Given the description of an element on the screen output the (x, y) to click on. 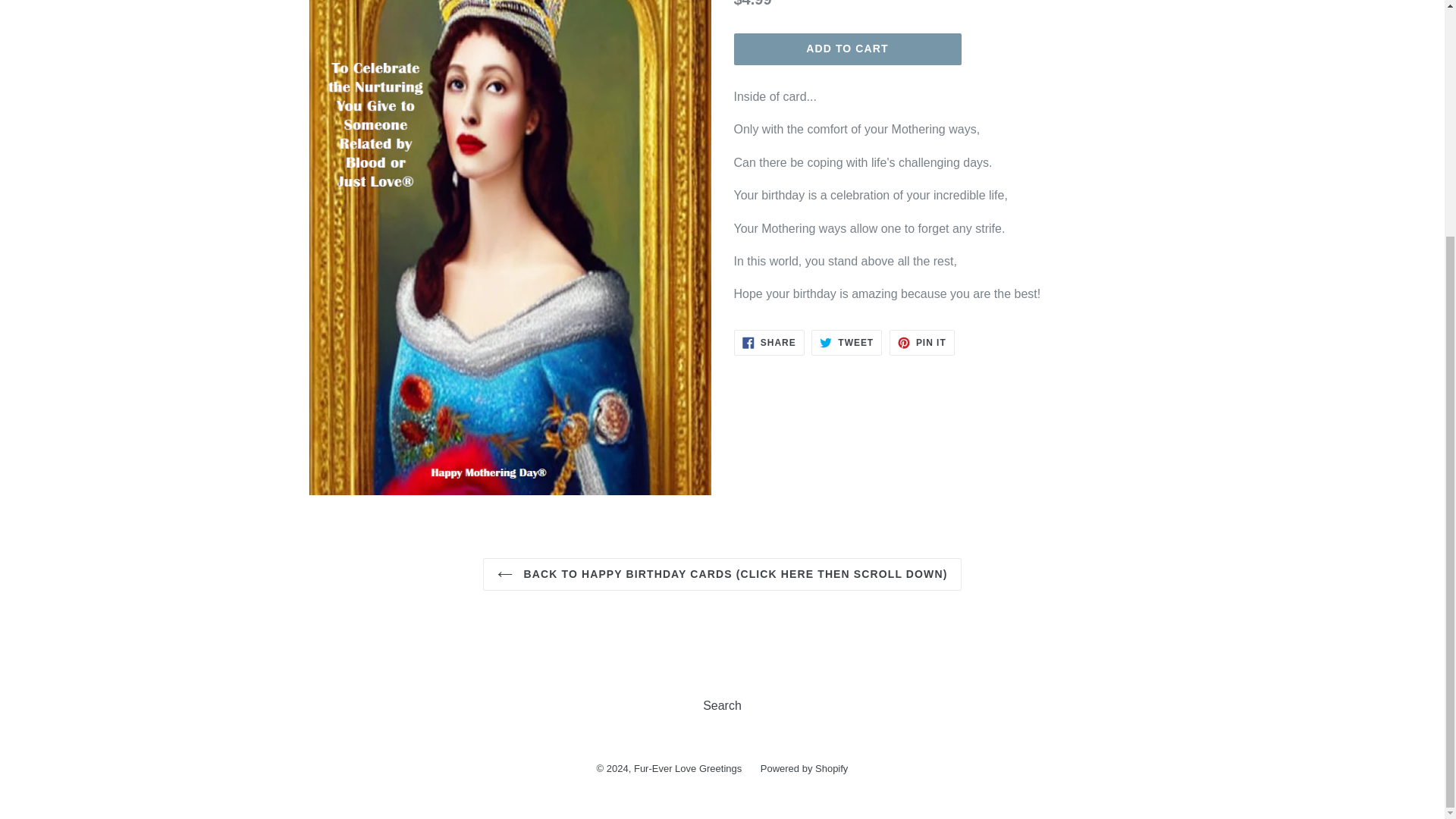
Pin on Pinterest (922, 342)
Tweet on Twitter (922, 342)
Share on Facebook (846, 342)
ADD TO CART (769, 342)
Fur-Ever Love Greetings (846, 49)
Powered by Shopify (687, 767)
Search (804, 767)
